Given the description of an element on the screen output the (x, y) to click on. 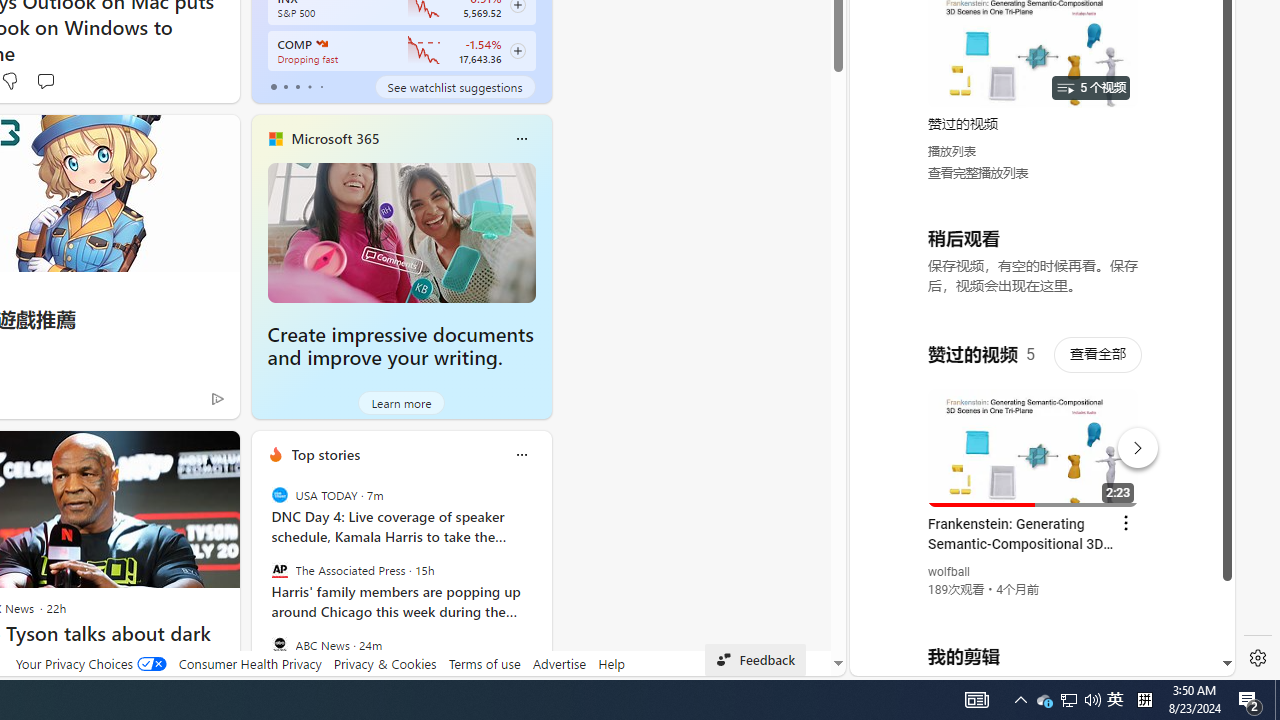
#you (1034, 439)
Privacy & Cookies (384, 663)
previous (261, 583)
tab-1 (285, 86)
Terms of use (484, 663)
you (1034, 609)
The Associated Press (279, 570)
See watchlist suggestions (454, 86)
tab-0 (273, 86)
